Given the description of an element on the screen output the (x, y) to click on. 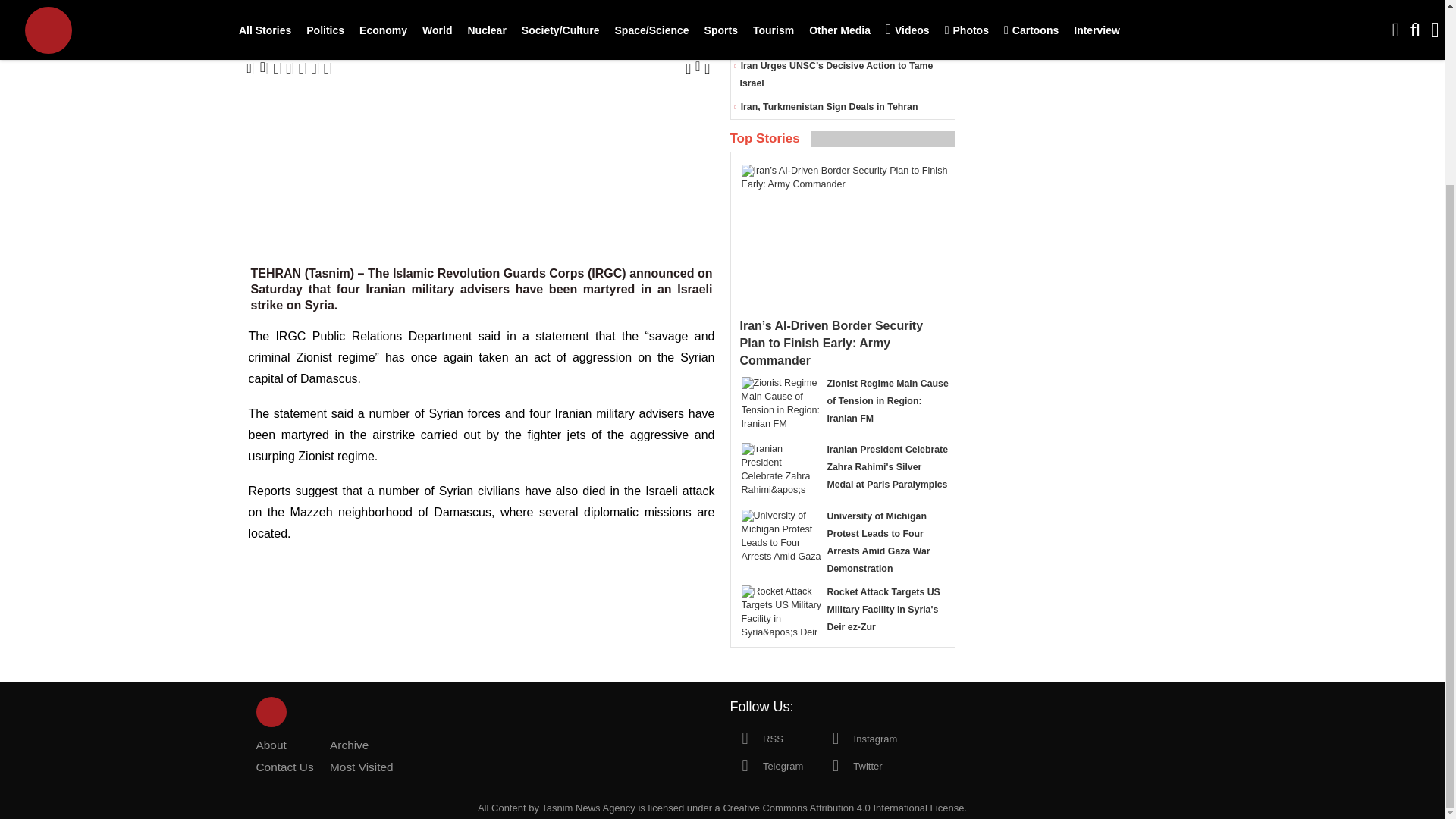
RSS (756, 737)
Instagram (858, 737)
Telegram (766, 765)
Twitter (851, 765)
